Given the description of an element on the screen output the (x, y) to click on. 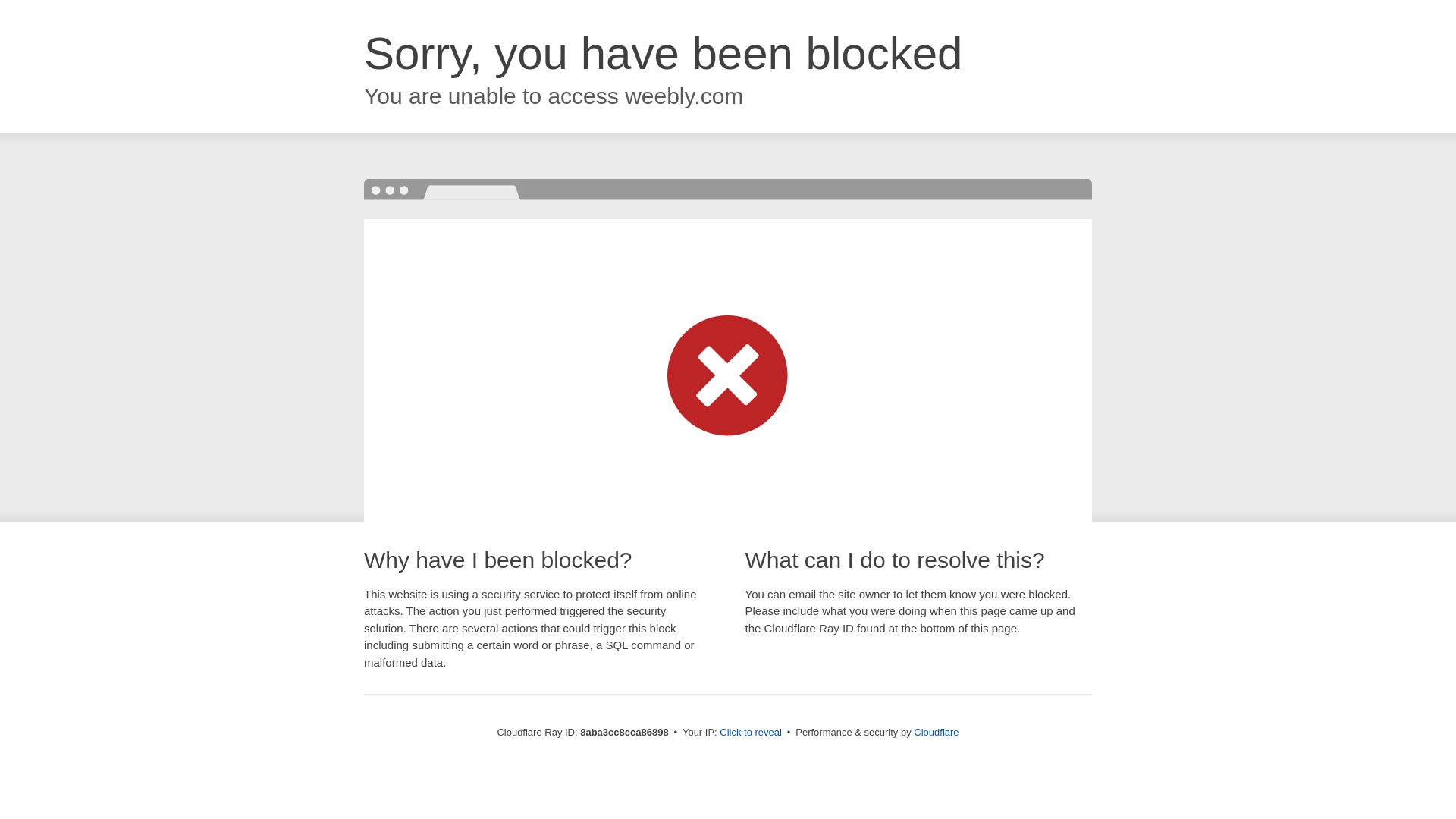
Cloudflare (936, 731)
Click to reveal (750, 732)
